Given the description of an element on the screen output the (x, y) to click on. 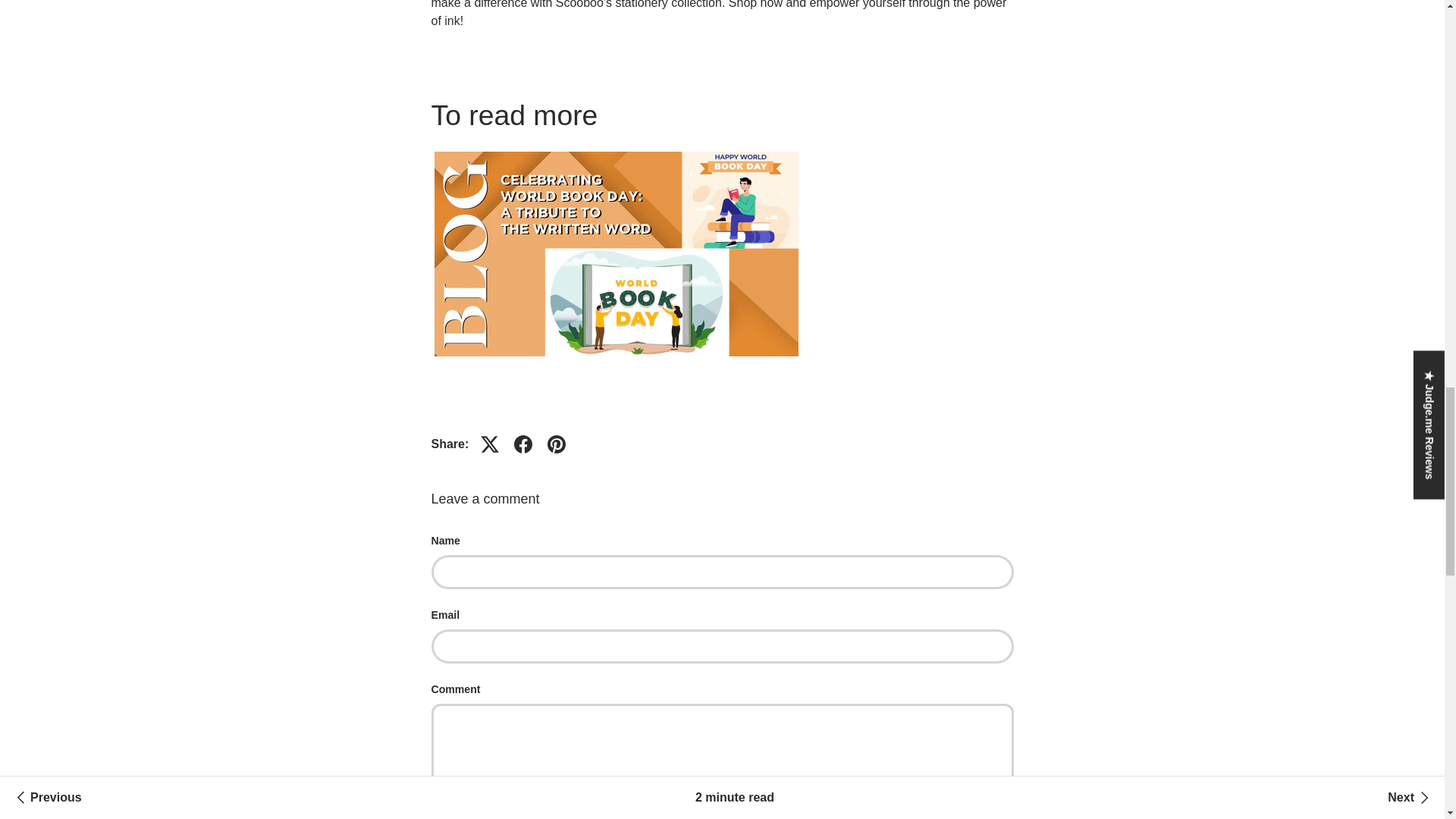
Celebrating World Book Day: A Tribute to the Written Word (615, 147)
Tweet on X (489, 444)
Pin on Pinterest (556, 444)
Share on Facebook (523, 444)
